Given the description of an element on the screen output the (x, y) to click on. 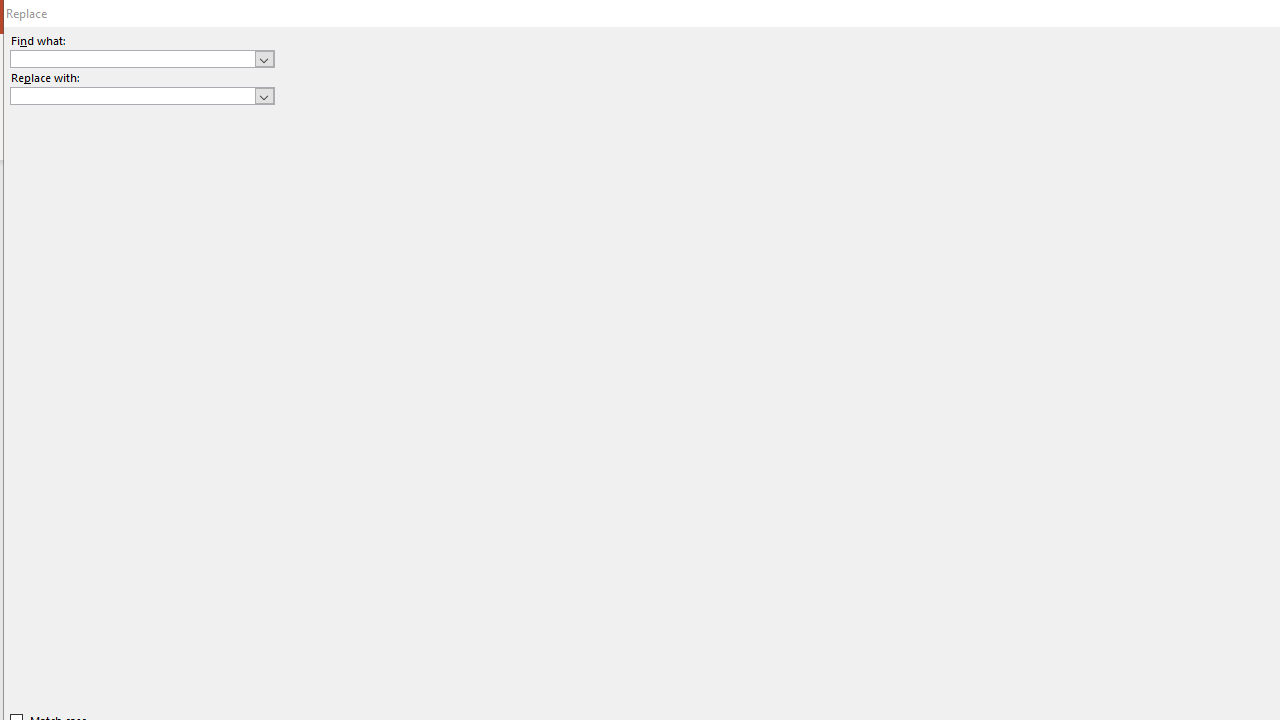
Shape Fill Orange, Accent 2 (1188, 78)
